Given the description of an element on the screen output the (x, y) to click on. 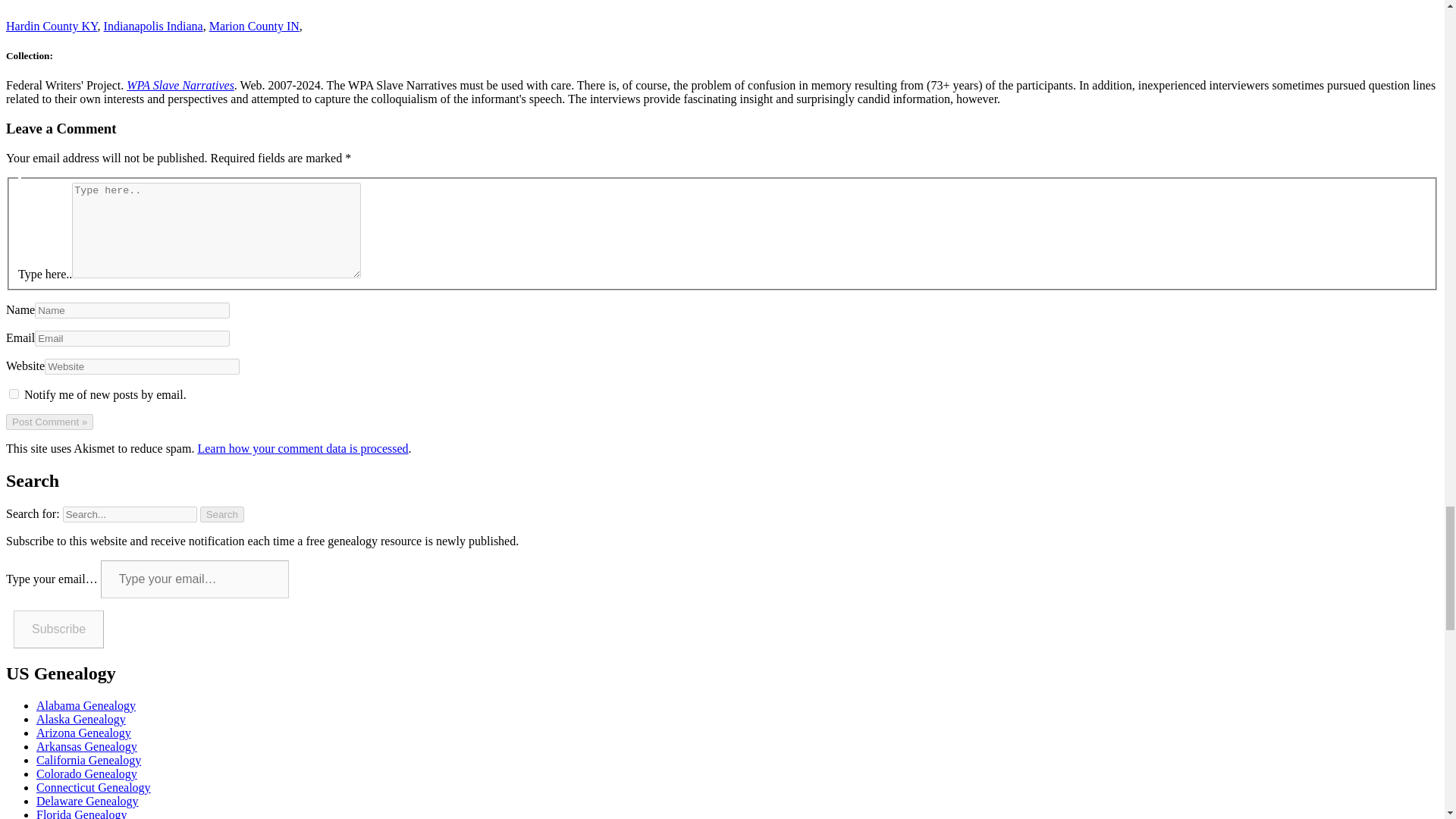
Search (222, 514)
Arizona Genealogy (83, 732)
WPA Slave Narratives (180, 84)
Connecticut Genealogy (93, 787)
Subscribe (58, 629)
Alabama Genealogy (85, 705)
Learn how your comment data is processed (301, 448)
subscribe (13, 393)
Please fill in this field. (194, 579)
California Genealogy (88, 759)
Arkansas Genealogy (86, 746)
Indianapolis Indiana (153, 25)
Search (222, 514)
Arizona Genealogy (83, 732)
Hardin County KY (51, 25)
